Given the description of an element on the screen output the (x, y) to click on. 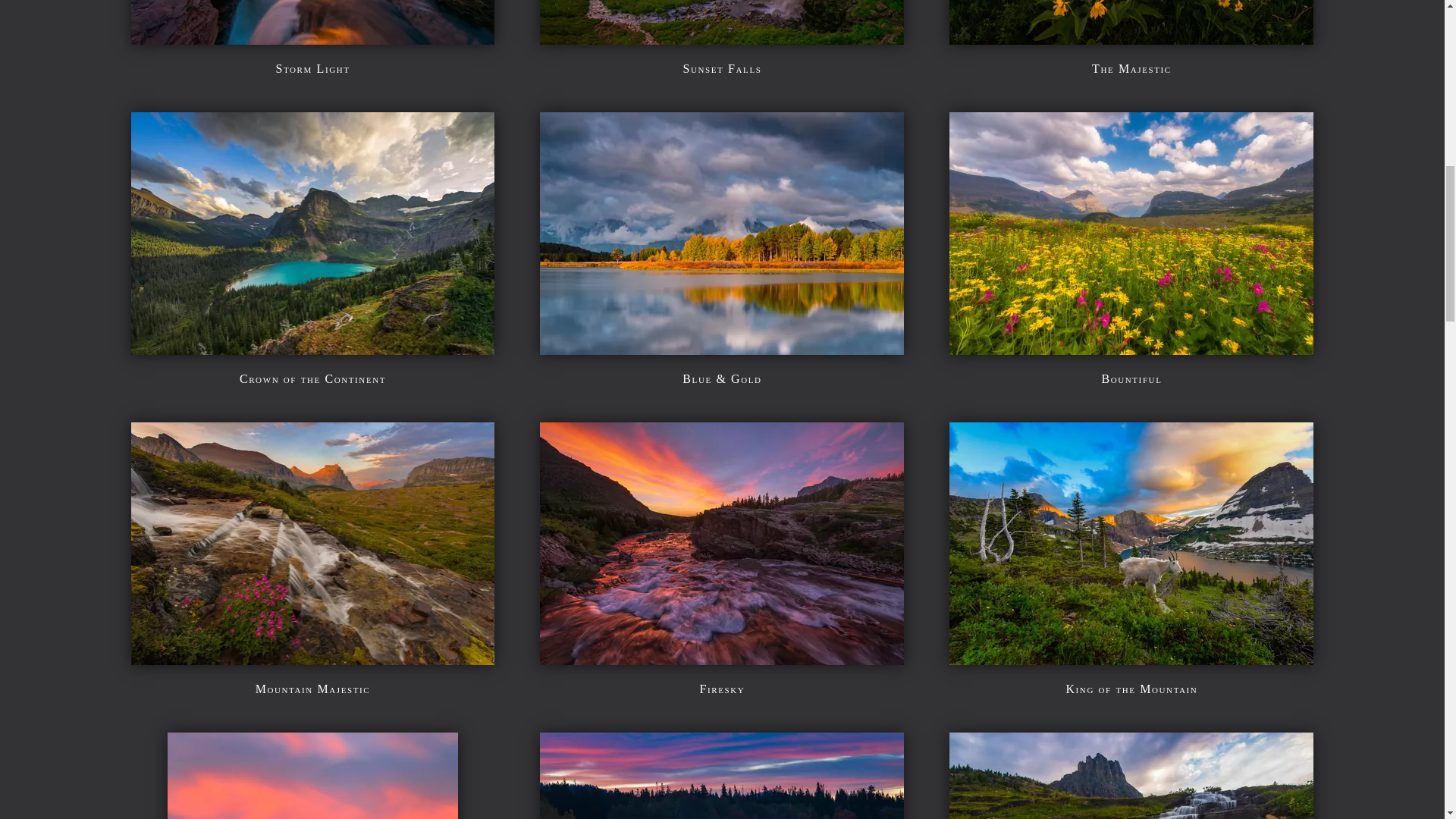
Mountain Majestic (313, 654)
Storm Light (313, 33)
Bountiful (1131, 344)
Sunset Falls (722, 33)
Mountain Majestic (313, 688)
The Majestic (1131, 33)
Firesky (722, 688)
Storm Light (312, 68)
King of the Mountain (1131, 654)
Sunset Falls (721, 68)
Firesky (722, 688)
Firesky (722, 654)
Crown of the Continent (312, 378)
Storm Light (312, 68)
The Majestic (1132, 68)
